Given the description of an element on the screen output the (x, y) to click on. 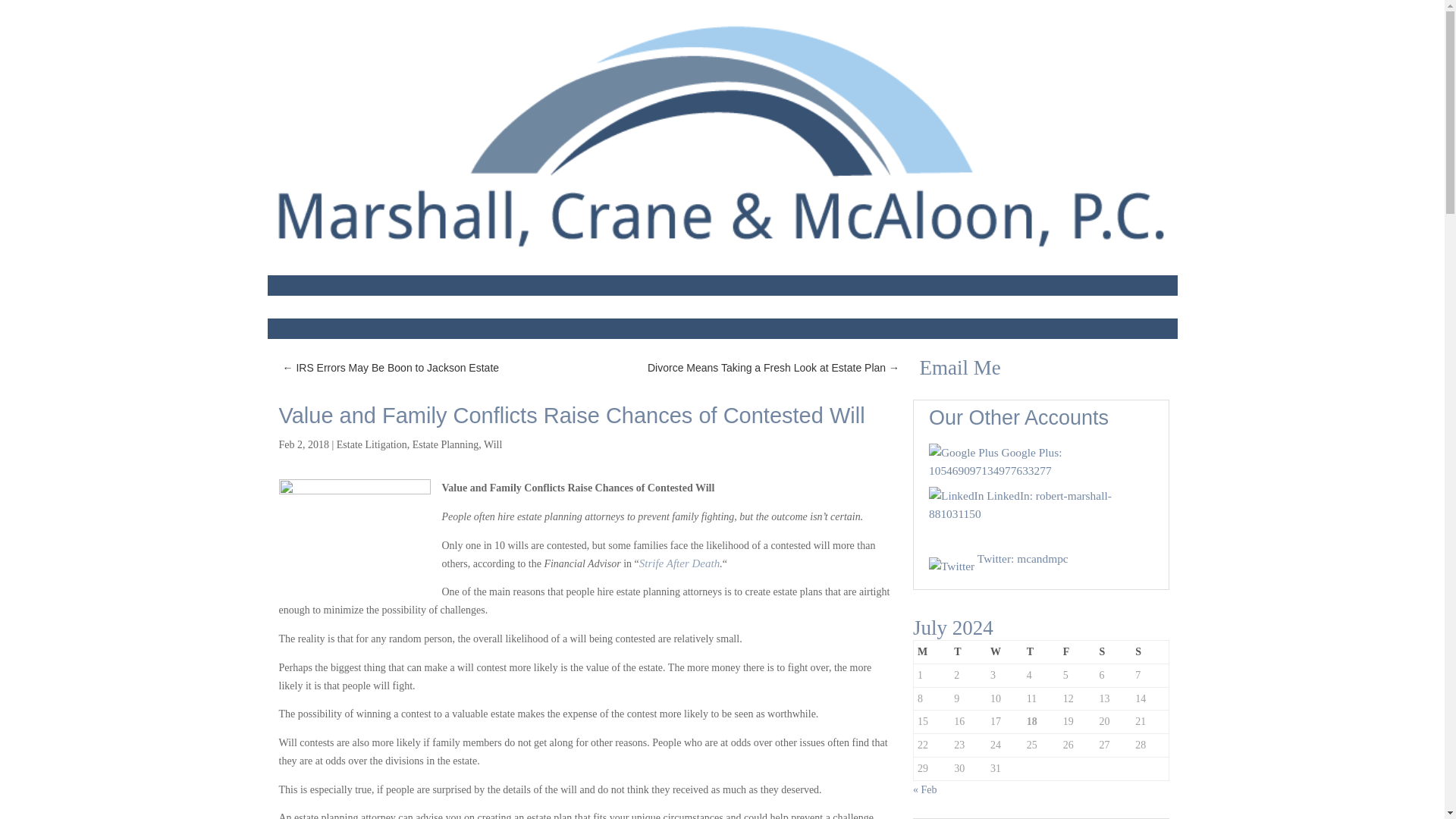
Sunday (1150, 651)
Saturday (1112, 651)
Wednesday (1005, 651)
Friday (1077, 651)
Tuesday (968, 651)
Thursday (1041, 651)
Monday (931, 651)
